Given the description of an element on the screen output the (x, y) to click on. 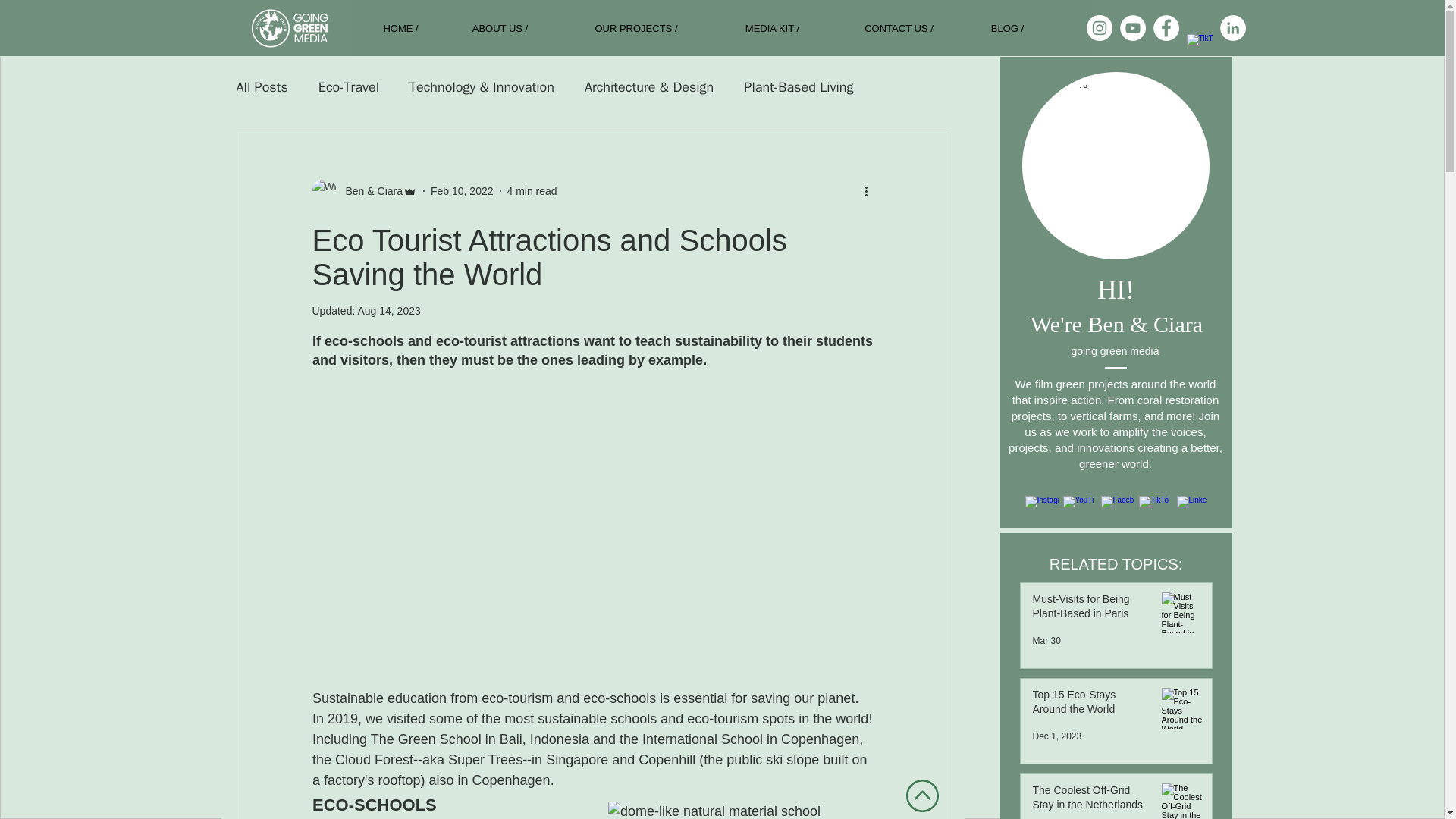
Aug 14, 2023 (388, 310)
Eco-Travel (348, 86)
All Posts (261, 86)
Mar 30 (1046, 640)
4 min read (531, 191)
Plant-Based Living (798, 86)
Dec 1, 2023 (1056, 736)
Feb 10, 2022 (461, 191)
